Given the description of an element on the screen output the (x, y) to click on. 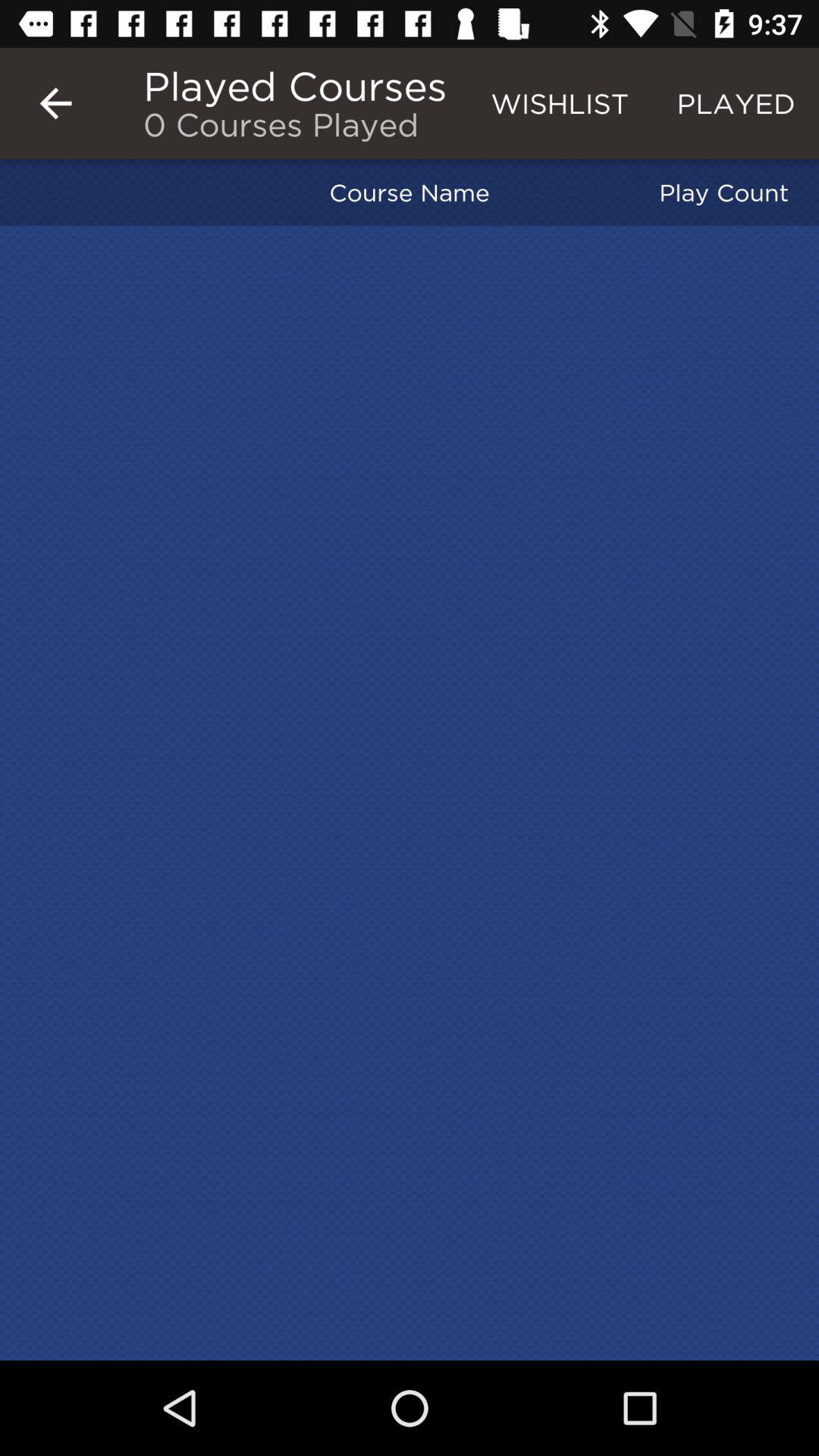
turn on icon to the left of the played courses icon (55, 103)
